Given the description of an element on the screen output the (x, y) to click on. 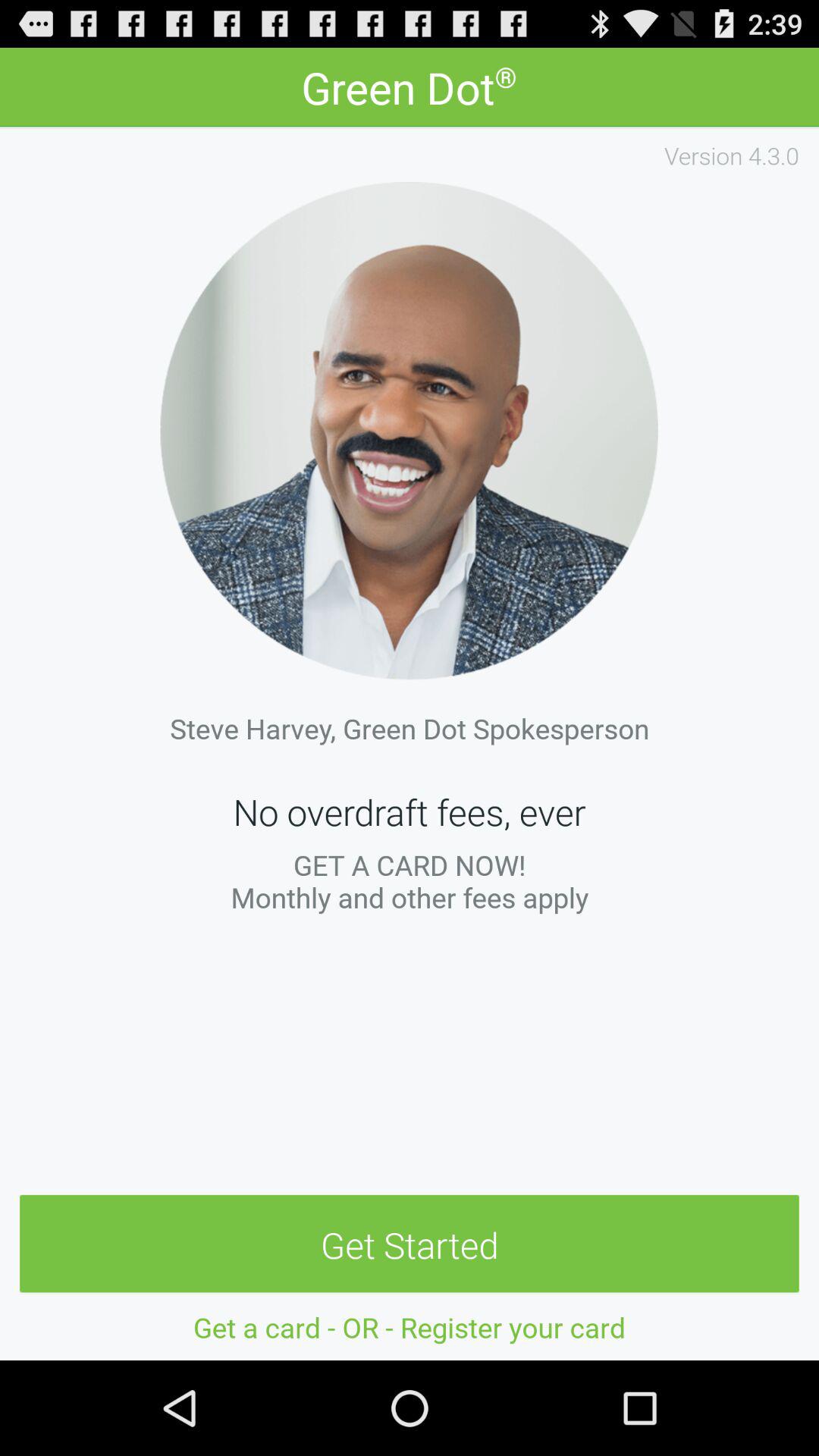
click on the image above the text steve harvey green dot spokeperson (409, 430)
click on get started (409, 1244)
